Given the description of an element on the screen output the (x, y) to click on. 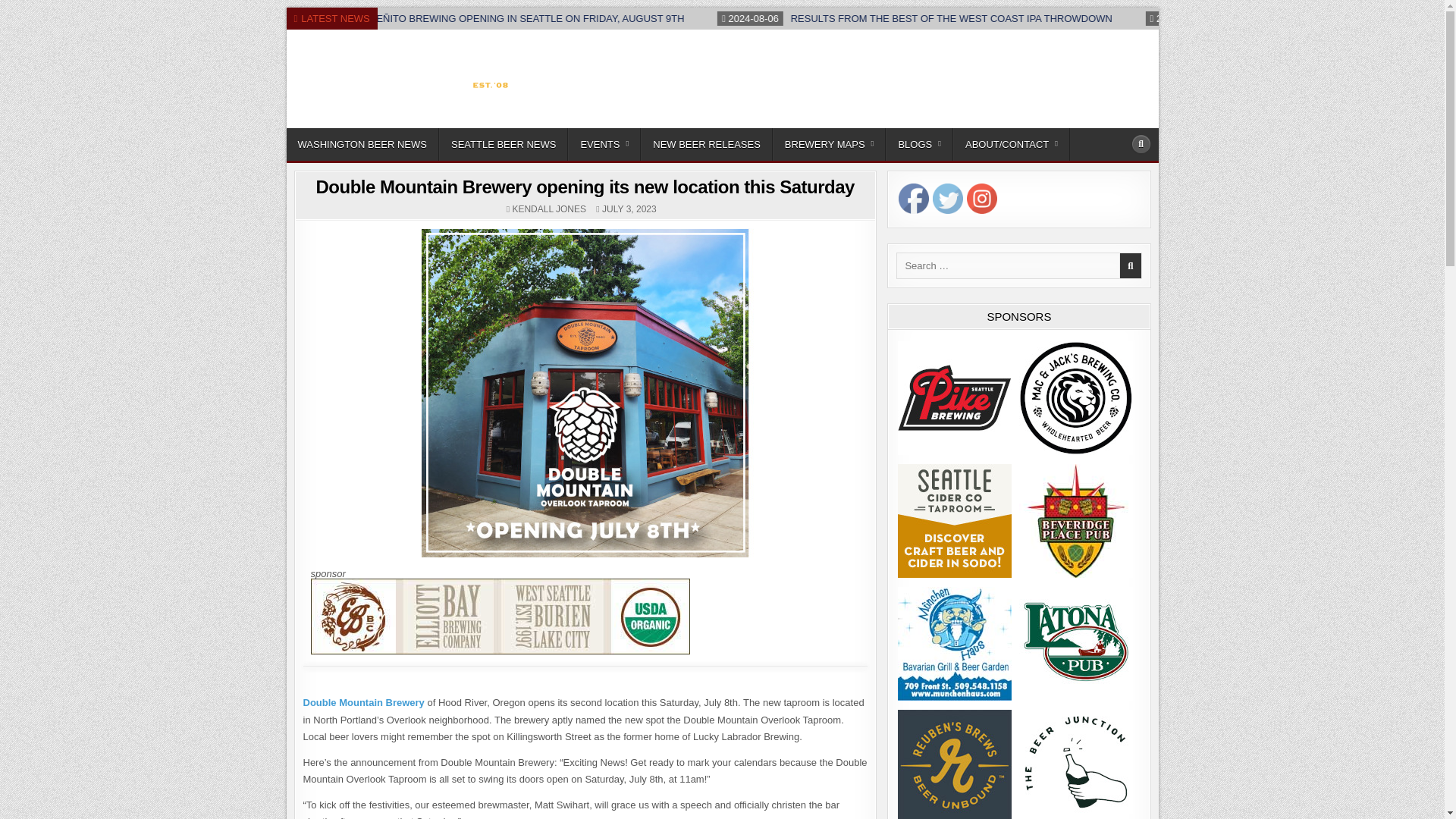
BREWERY MAPS (829, 143)
NEW BEER RELEASES (706, 143)
BLOGS (919, 143)
WASHINGTON BEER NEWS (362, 143)
The Washington Beer Blog (400, 124)
KENDALL JONES (549, 208)
